Given the description of an element on the screen output the (x, y) to click on. 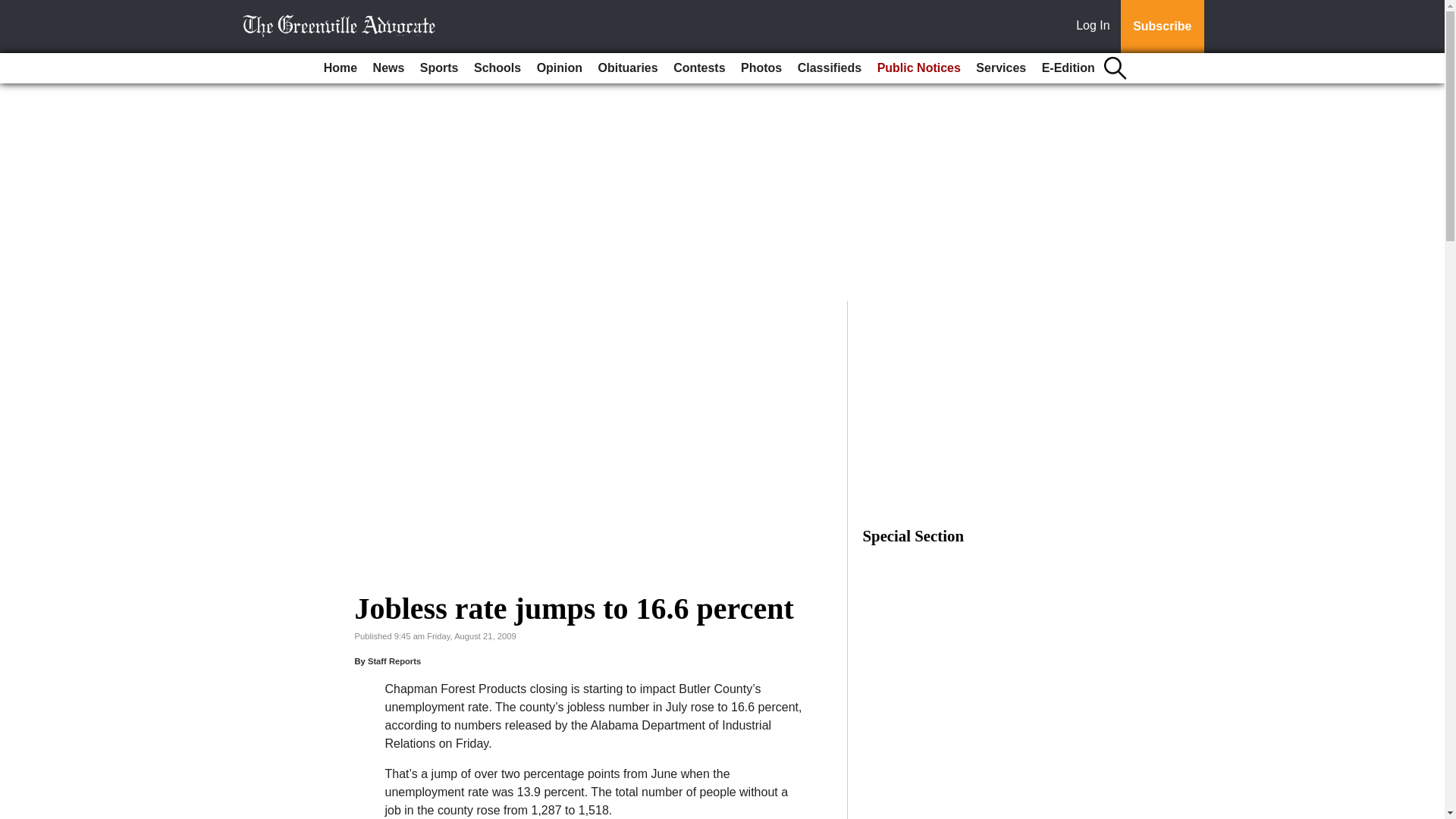
Go (13, 9)
Subscribe (1162, 26)
Photos (761, 68)
Public Notices (918, 68)
Schools (497, 68)
Contests (698, 68)
Sports (438, 68)
E-Edition (1067, 68)
Staff Reports (394, 660)
News (388, 68)
Home (339, 68)
Services (1000, 68)
Classifieds (829, 68)
Log In (1095, 26)
Opinion (559, 68)
